Given the description of an element on the screen output the (x, y) to click on. 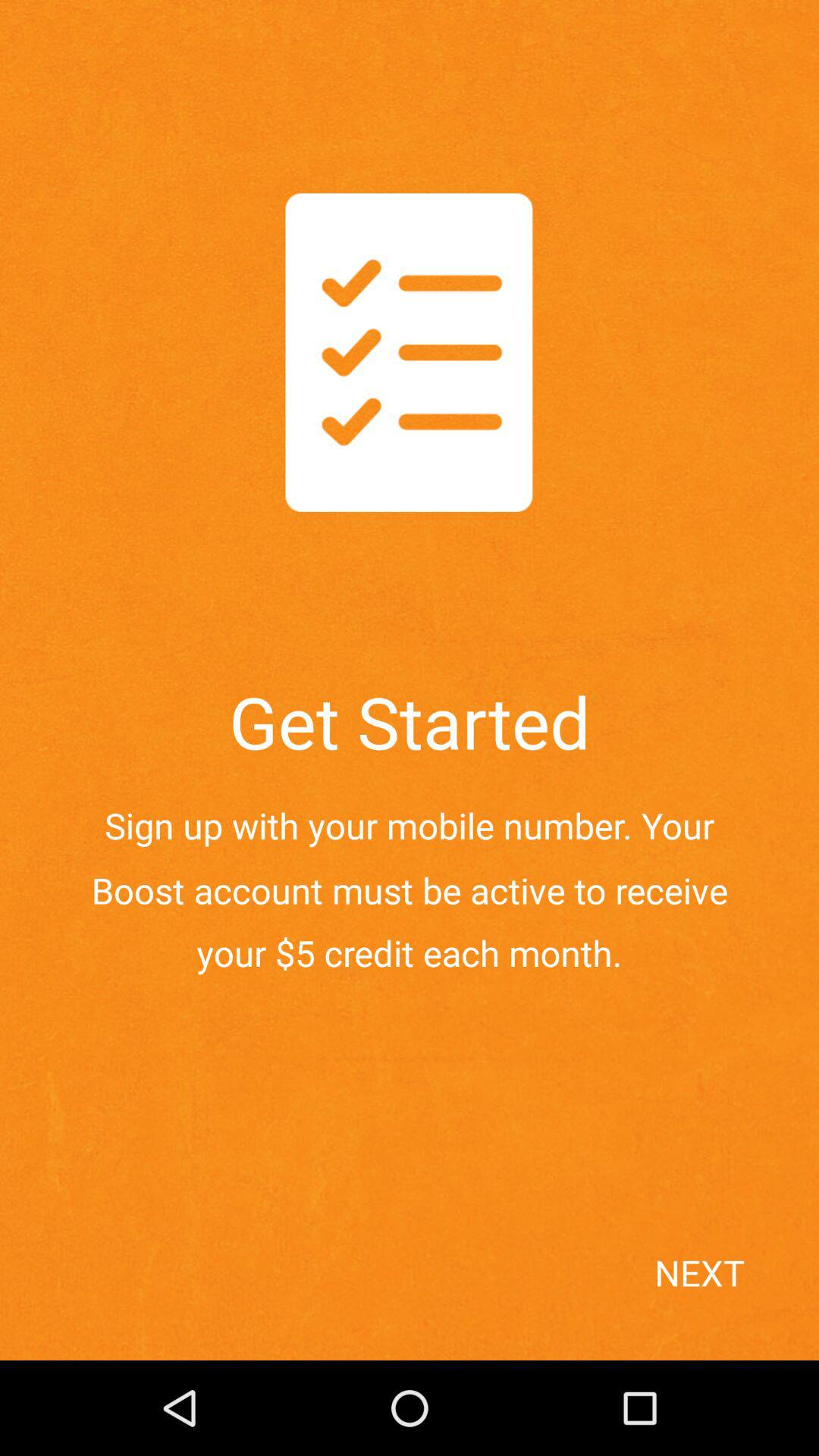
jump until next (731, 1300)
